Given the description of an element on the screen output the (x, y) to click on. 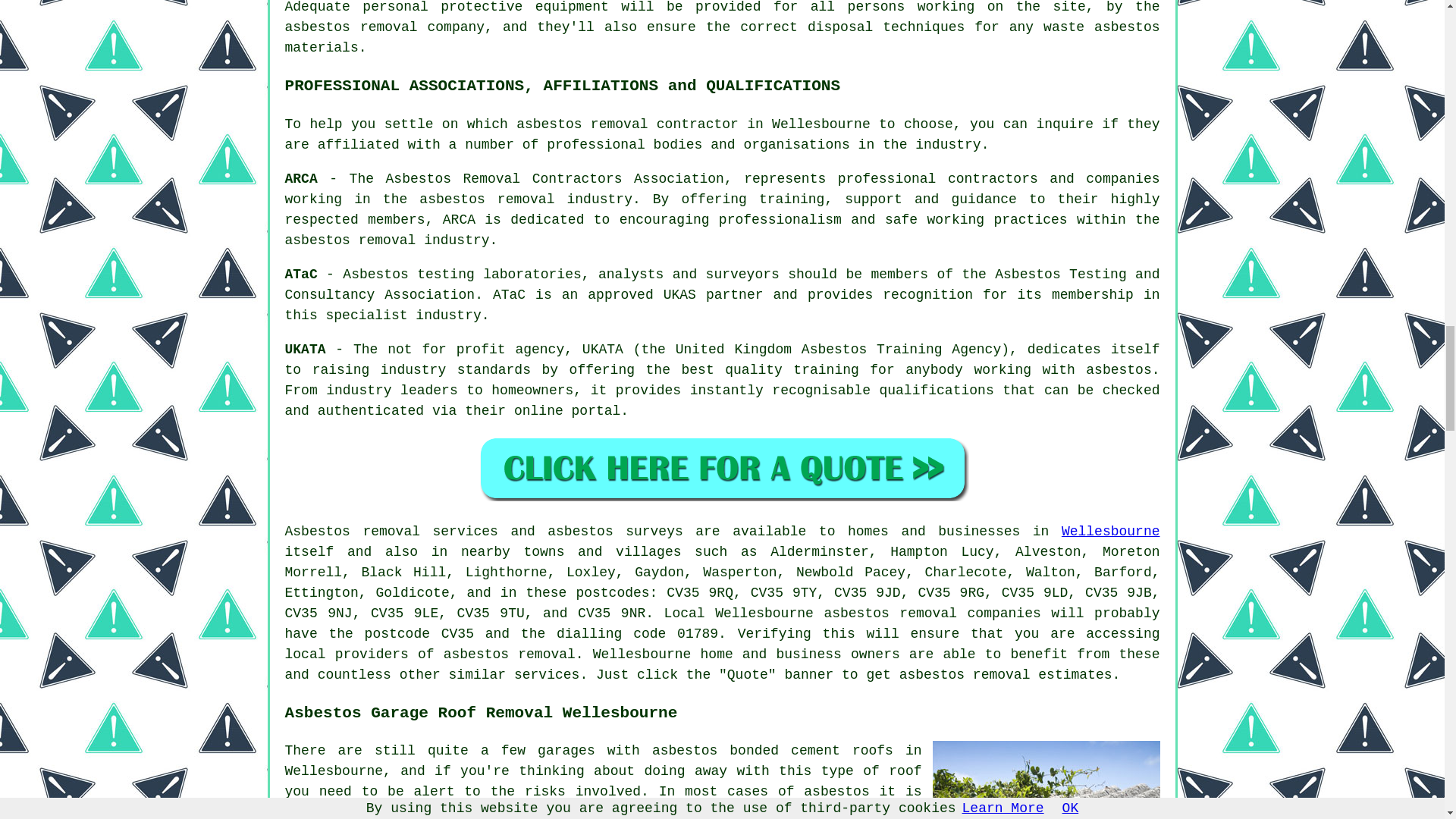
services (546, 674)
asbestos removal (509, 654)
Book Asbestos Removal in Wellesbourne UK (722, 467)
asbestos removal (890, 613)
